Given the description of an element on the screen output the (x, y) to click on. 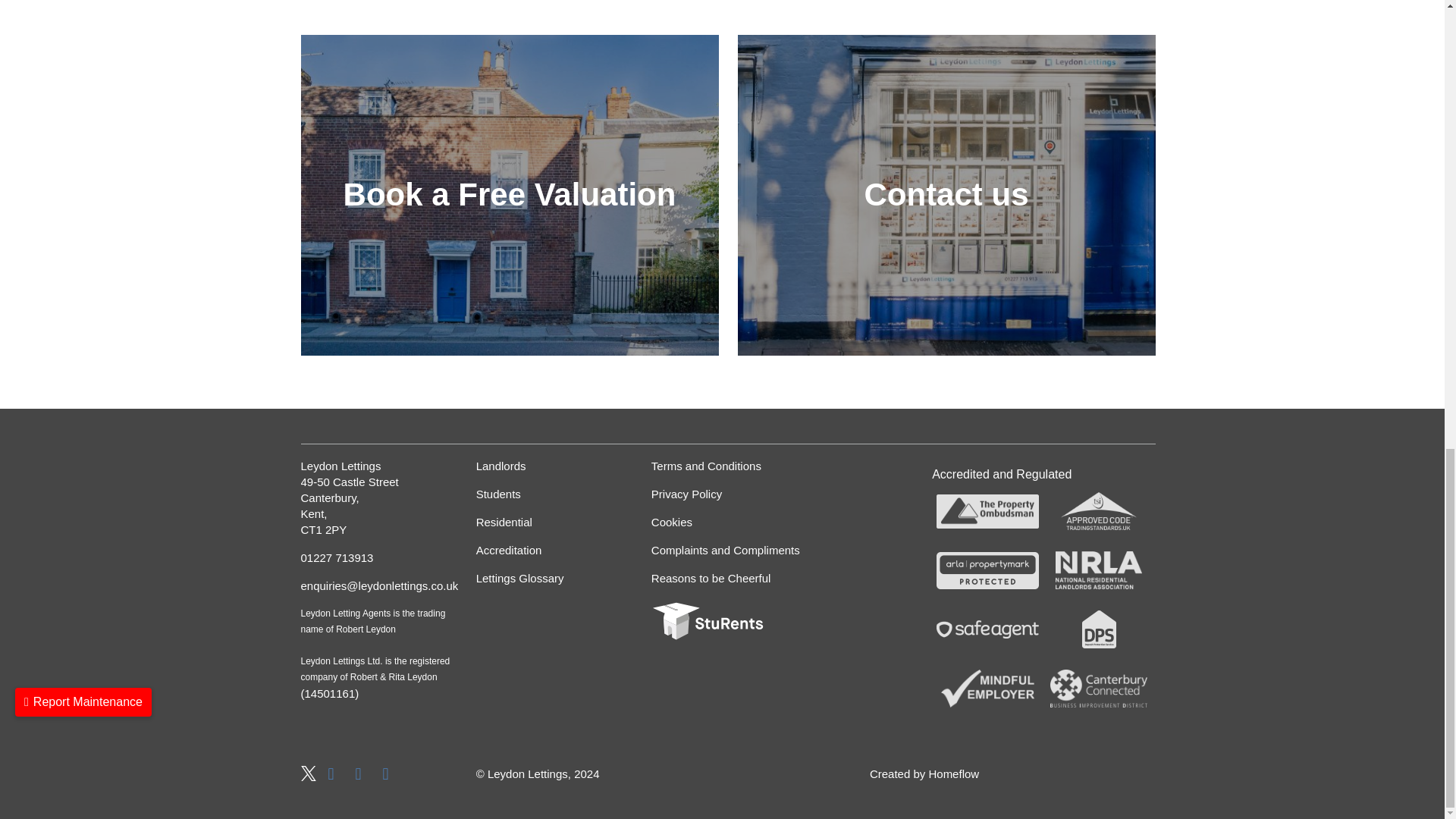
Cookies (726, 521)
Reasons to be Cheerful (726, 578)
Terms and Conditions (726, 465)
Learn about Mindful Employer (987, 688)
Complaints and Compliments (726, 549)
Privacy Policy (726, 494)
Call Leydon Lettings (375, 557)
Learn about safeagent (987, 629)
Learn about ARLA Propertymark (987, 570)
Email Leydon Lettings (375, 585)
